Given the description of an element on the screen output the (x, y) to click on. 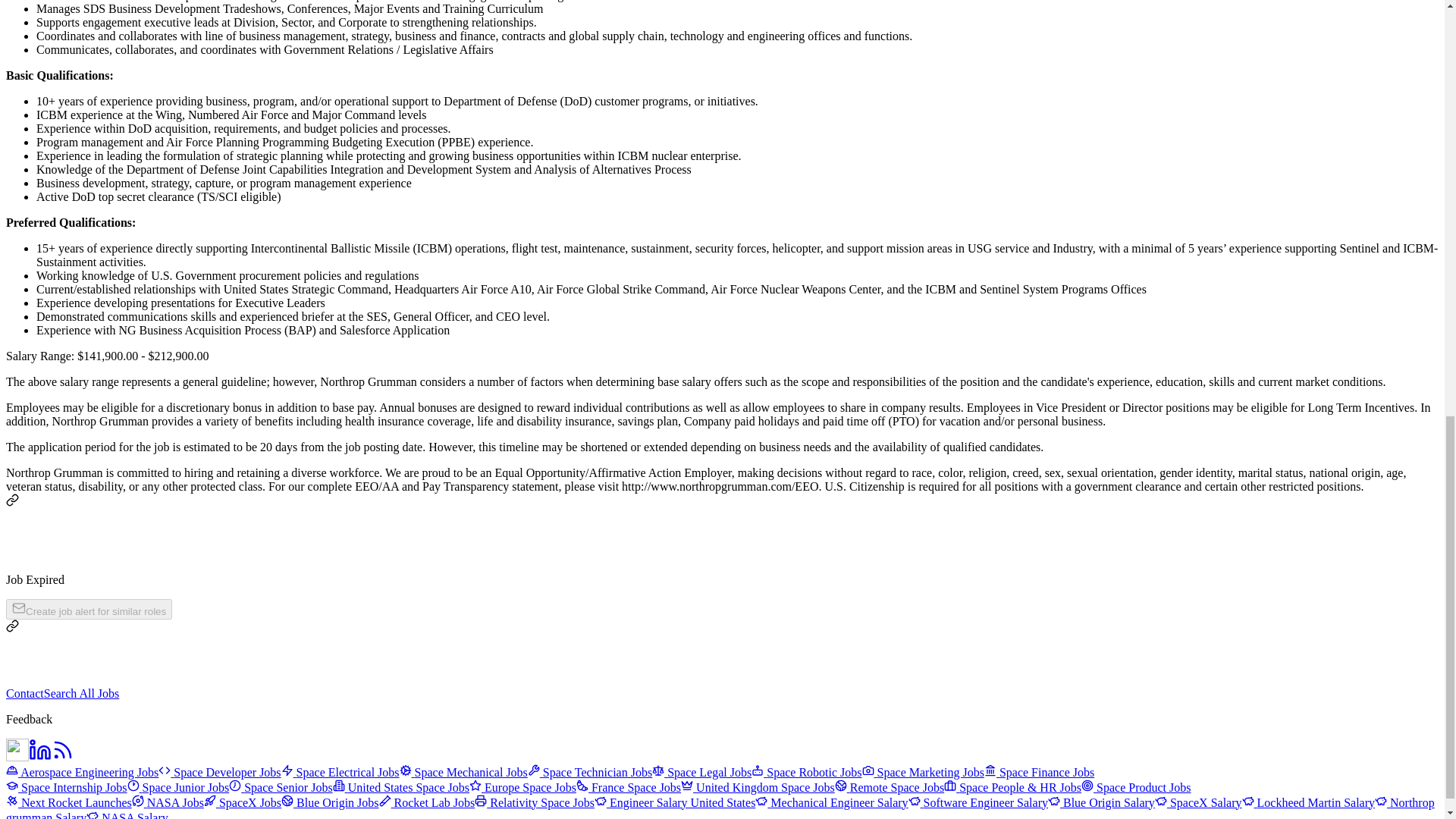
Space Legal Jobs (701, 771)
Space Internship Jobs (66, 786)
Aerospace Engineering Jobs (81, 771)
Space Robotic Jobs (806, 771)
Space Developer Jobs (219, 771)
Space Electrical Jobs (339, 771)
Space Junior Jobs (179, 786)
Space Finance Jobs (1039, 771)
Europe Space Jobs (522, 786)
France Space Jobs (628, 786)
Space Mechanical Jobs (462, 771)
United Kingdom Space Jobs (757, 786)
Space Marketing Jobs (922, 771)
Create job alert for similar roles (88, 608)
United States Space Jobs (400, 786)
